Given the description of an element on the screen output the (x, y) to click on. 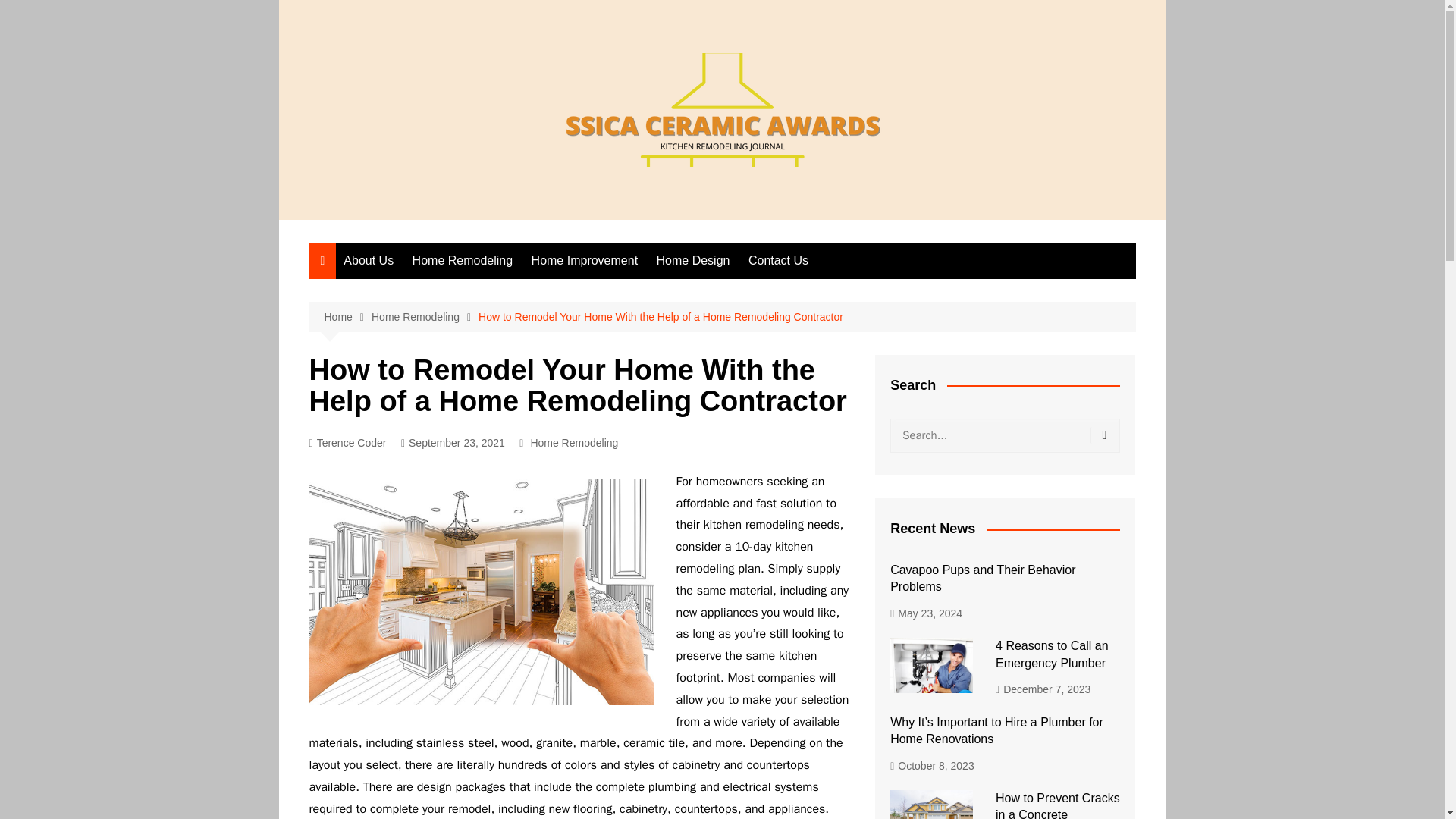
How to Prevent Cracks in a Concrete Driveway (1057, 805)
Cavapoo Pups and Their Behavior Problems (982, 577)
December 7, 2023 (1042, 689)
4 Reasons to Call an Emergency Plumber (1051, 654)
May 23, 2024 (925, 613)
Home Remodeling (573, 442)
Home (347, 316)
Home Improvement (585, 260)
Home Design (693, 260)
Contact Us (778, 260)
October 8, 2023 (931, 764)
Home Remodeling (425, 316)
Home Remodeling (462, 260)
September 23, 2021 (453, 443)
